Given the description of an element on the screen output the (x, y) to click on. 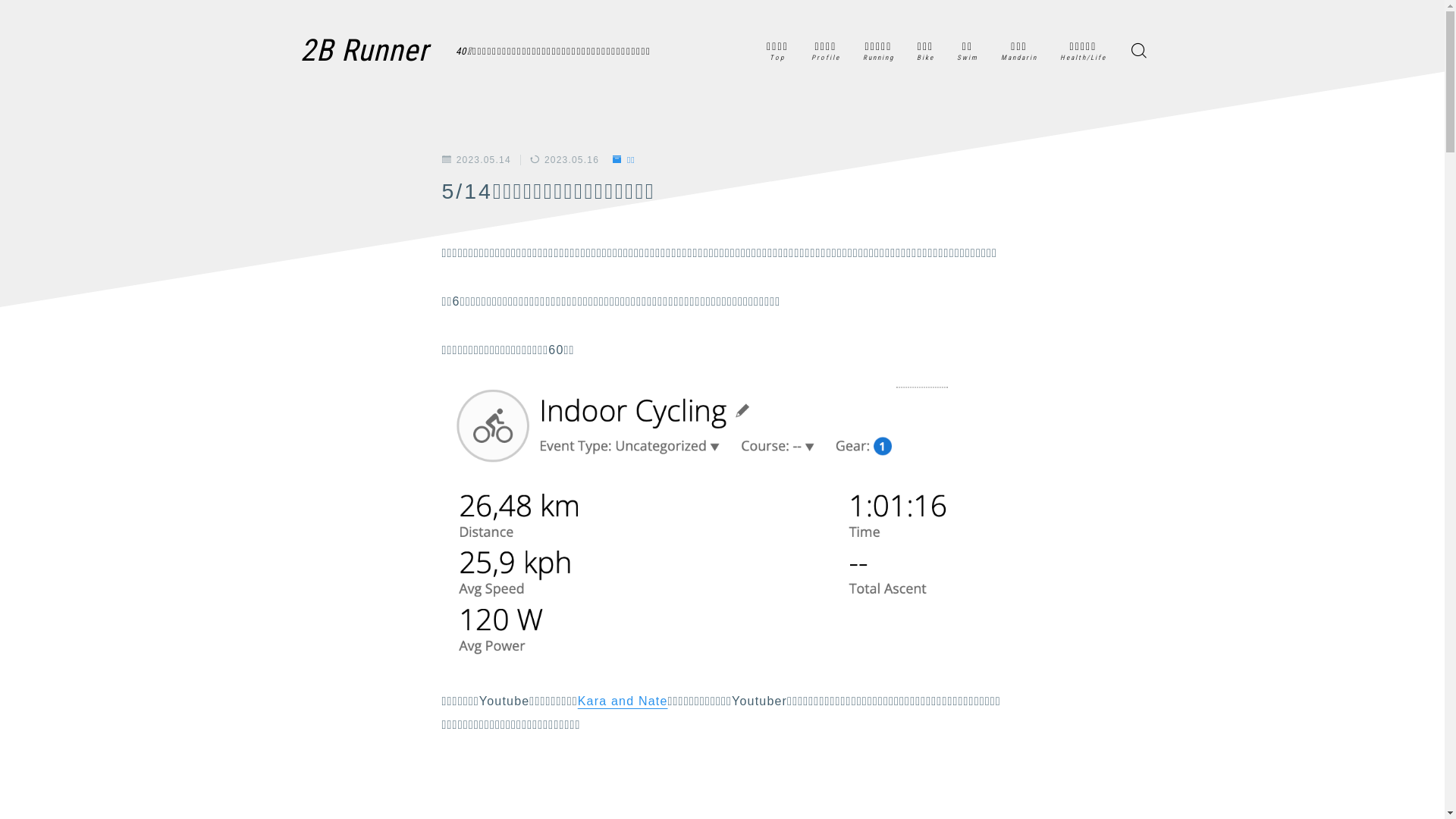
2B Runner Element type: text (366, 49)
Kara and Nate Element type: text (622, 700)
